Given the description of an element on the screen output the (x, y) to click on. 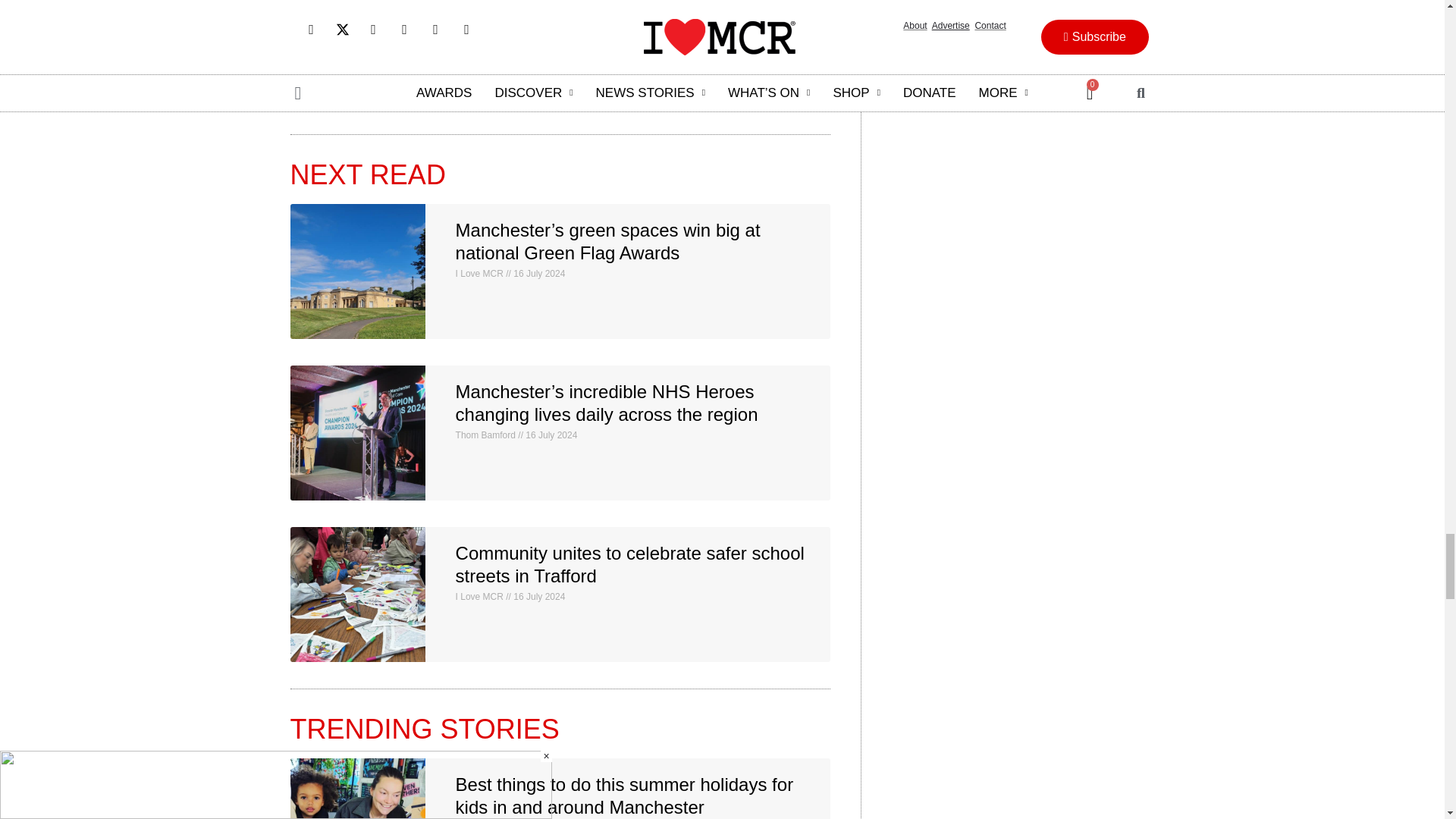
Subscribe to email (317, 21)
